Given the description of an element on the screen output the (x, y) to click on. 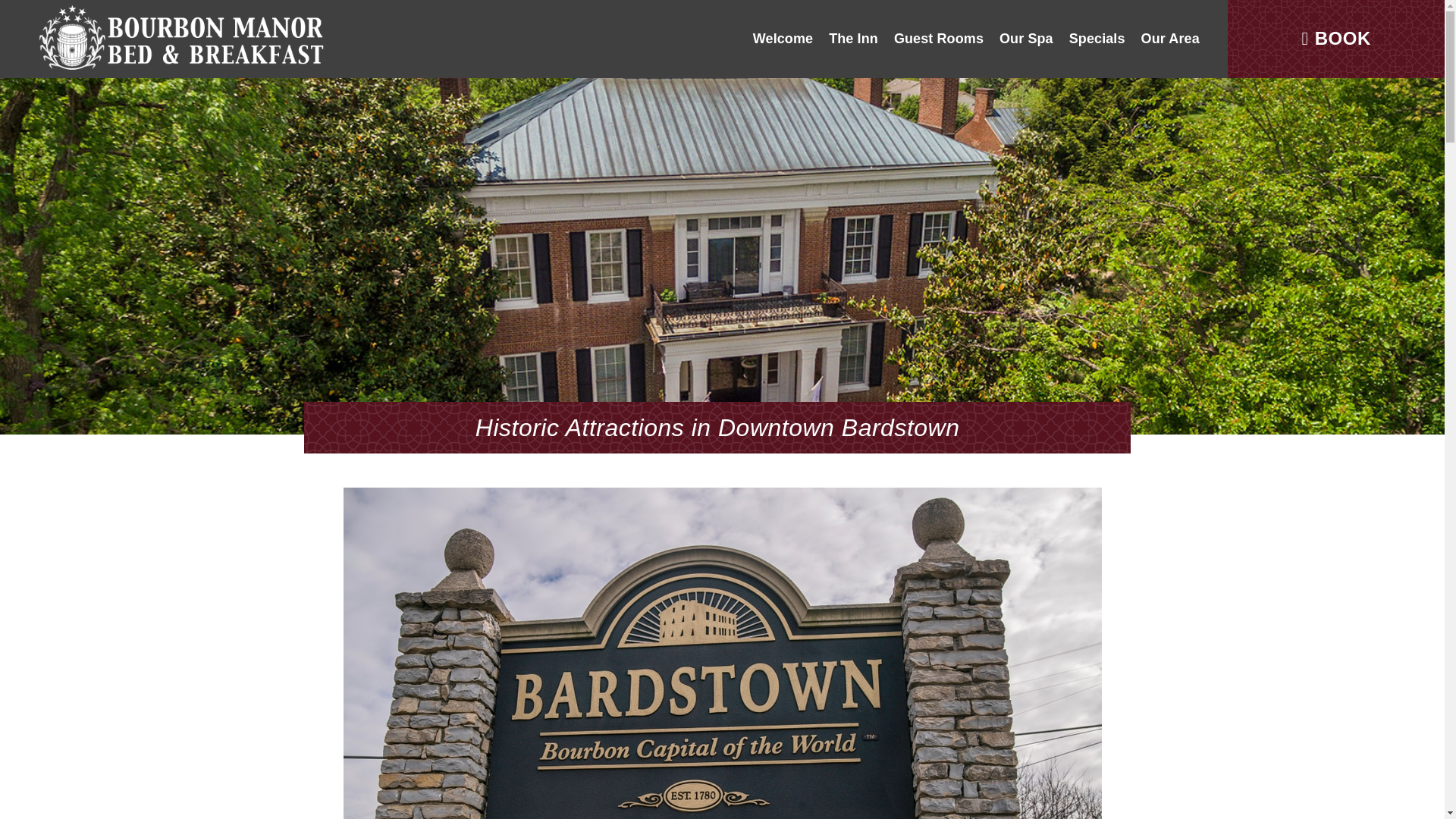
Our Spa (1025, 38)
Our Area (1170, 38)
The Inn (853, 38)
Specials (1097, 38)
Welcome (782, 38)
Guest Rooms (938, 38)
